Given the description of an element on the screen output the (x, y) to click on. 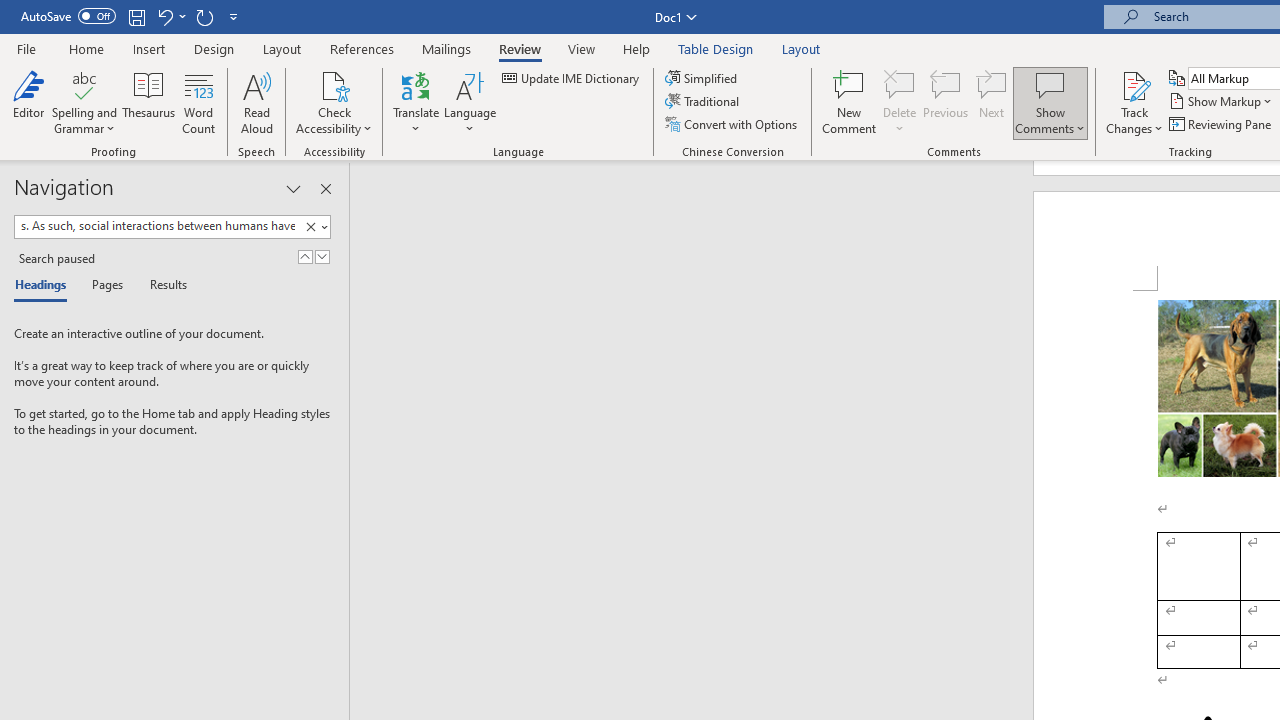
Traditional (703, 101)
Delete (900, 102)
Thesaurus... (148, 102)
Spelling and Grammar (84, 84)
Show Markup (1222, 101)
Track Changes (1134, 84)
Delete (900, 84)
